Given the description of an element on the screen output the (x, y) to click on. 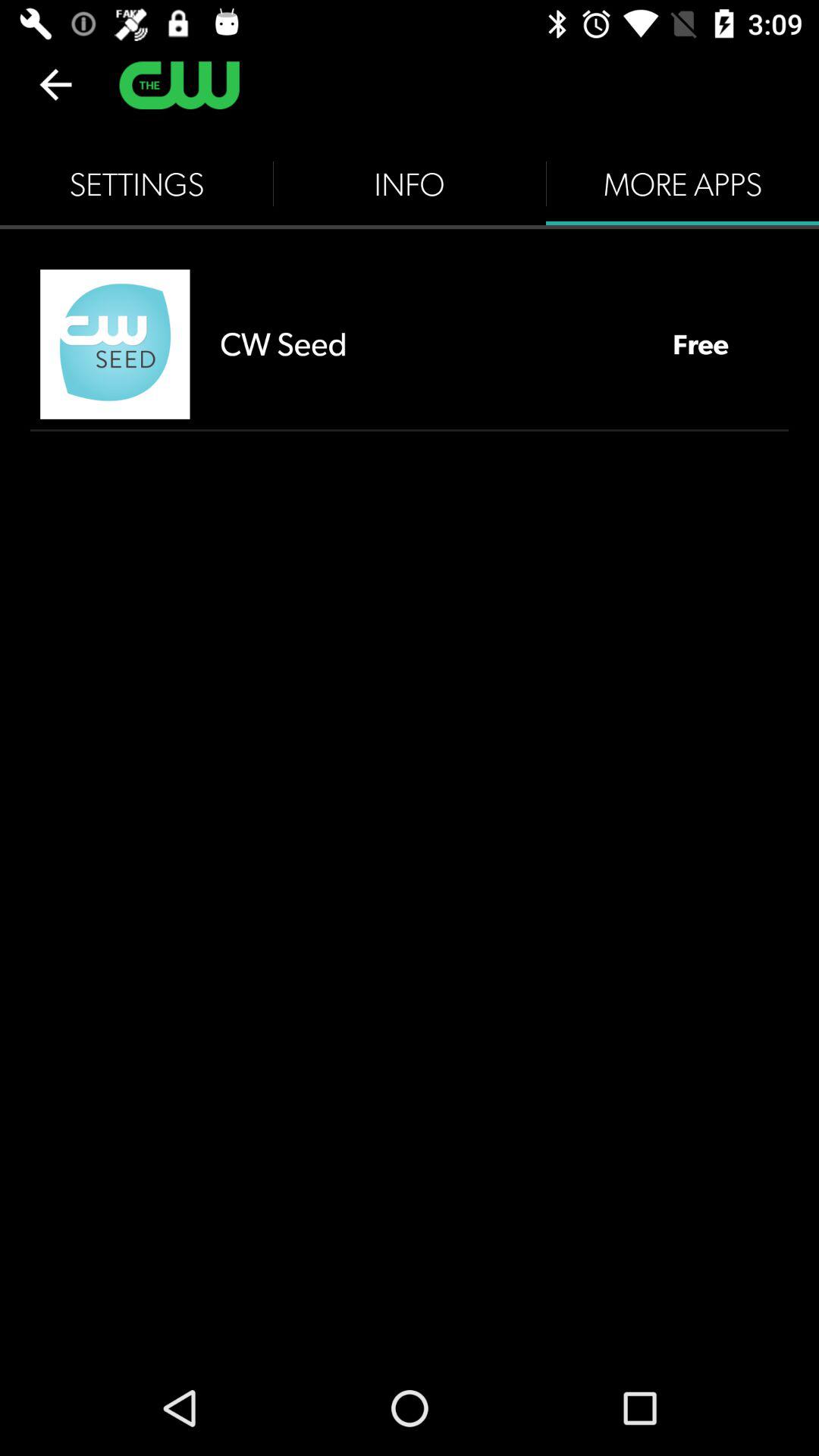
select the icon to the right of the settings icon (409, 184)
